Given the description of an element on the screen output the (x, y) to click on. 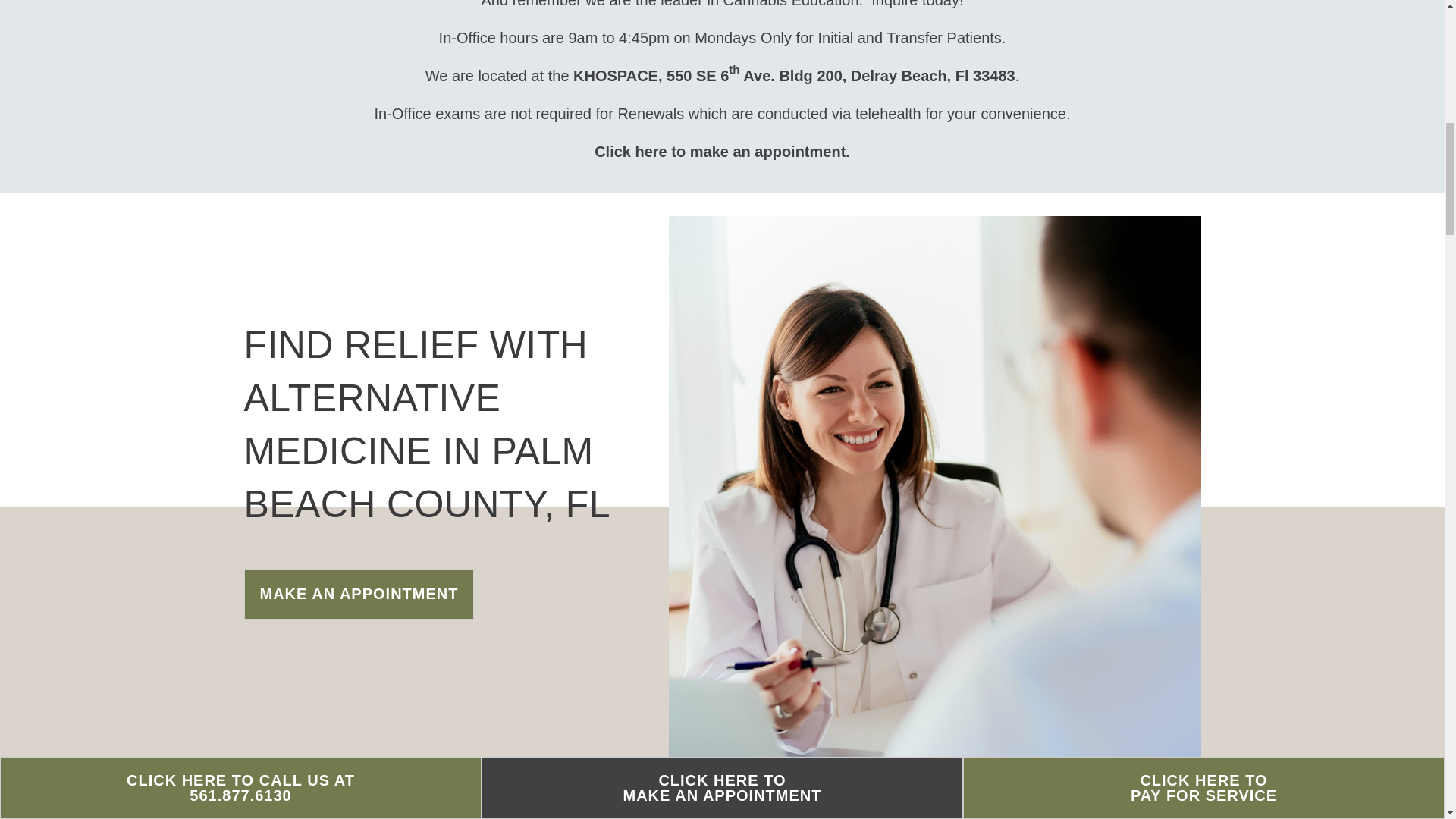
MAKE AN APPOINTMENT (359, 593)
Click here to make an appointment. (722, 151)
KHOSPACE, 550 SE 6th Ave. Bldg 200, Delray Beach, Fl 33483 (793, 75)
